Given the description of an element on the screen output the (x, y) to click on. 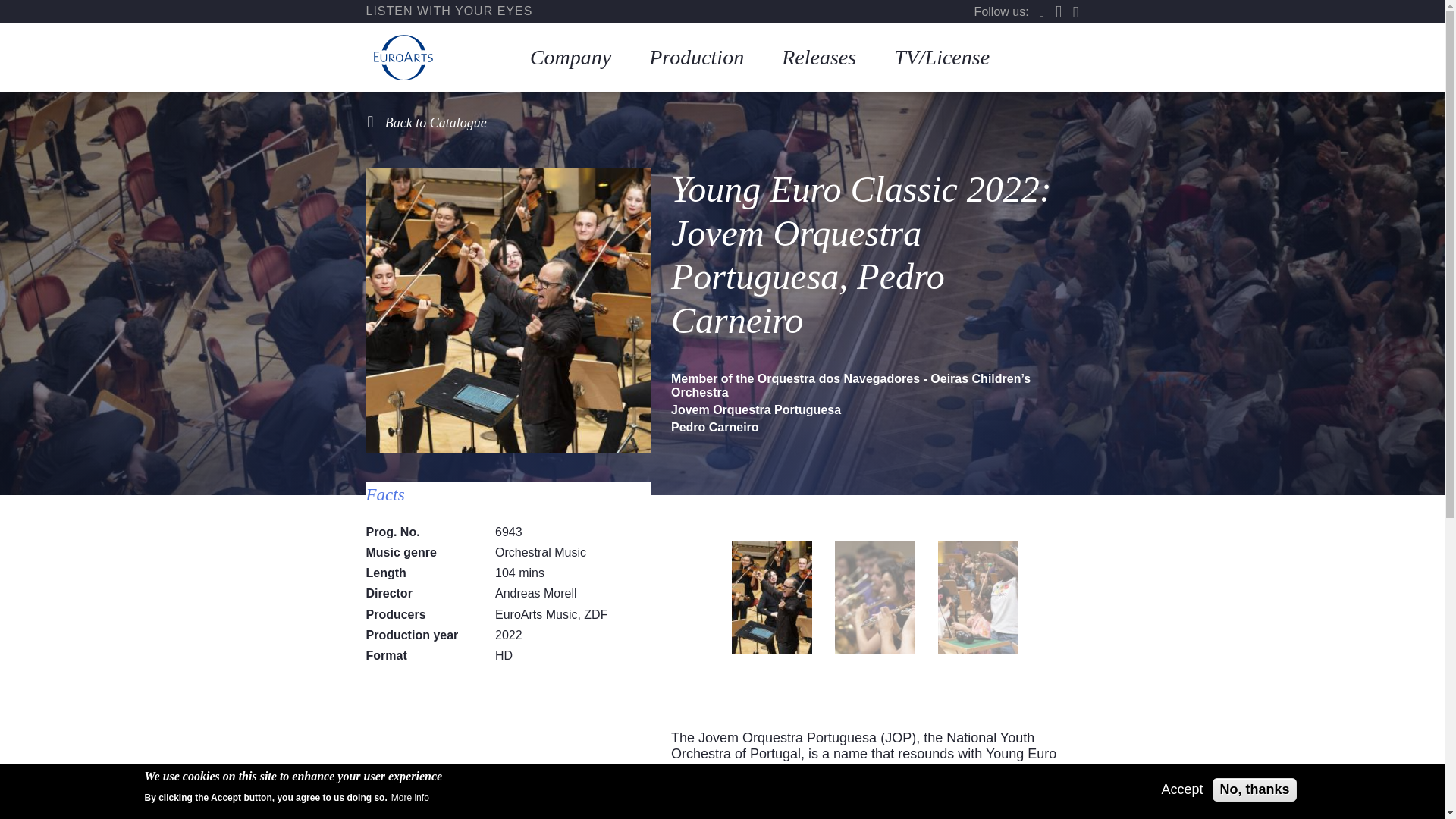
Company (570, 57)
Back to Catalogue (426, 122)
Home (403, 57)
Production (696, 57)
Releases (818, 57)
